Given the description of an element on the screen output the (x, y) to click on. 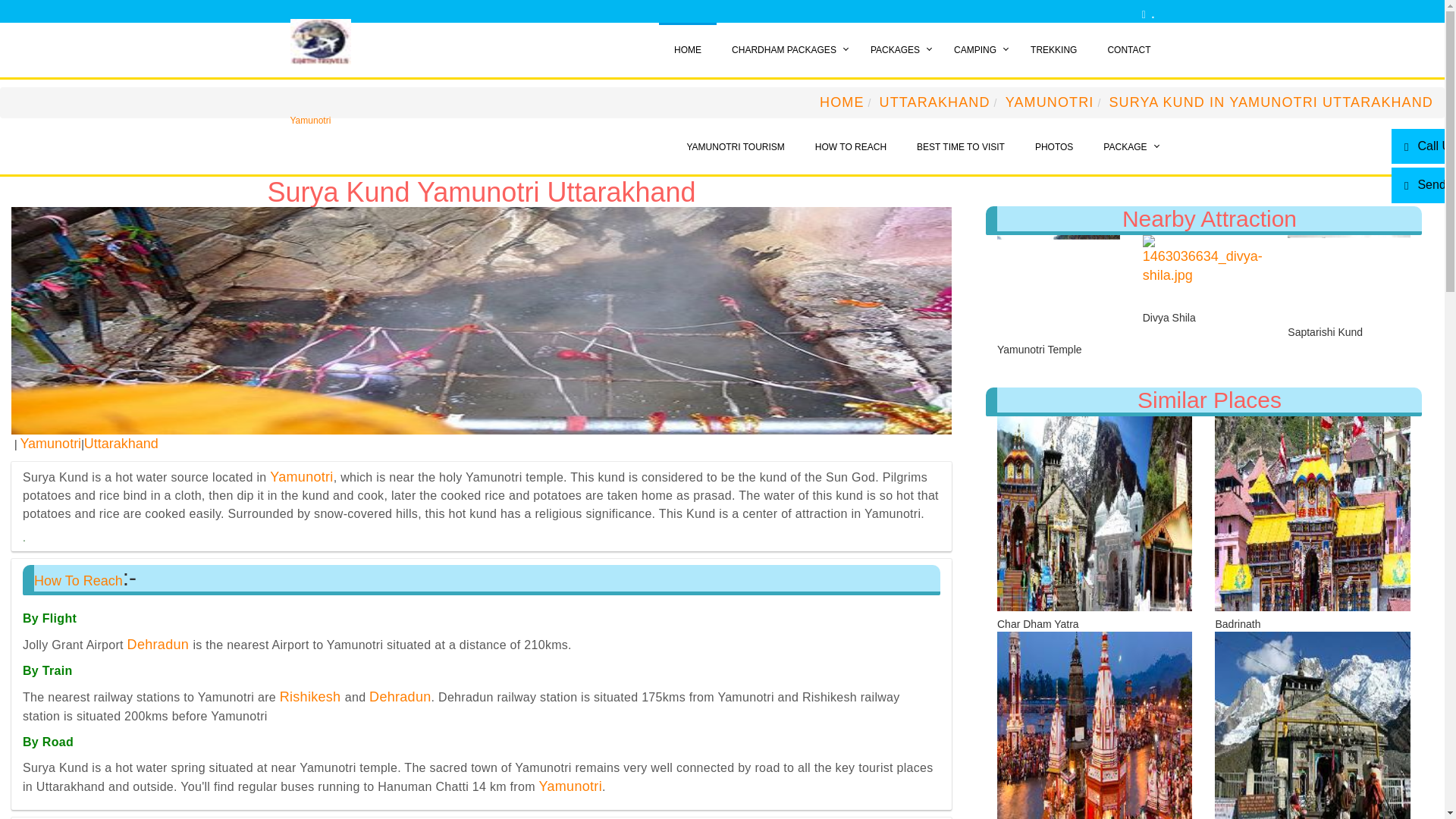
Yamunotri (50, 443)
Uttarakhand (121, 443)
Yamunotri (570, 785)
Home (976, 49)
HOW TO REACH (850, 146)
CHARDHAM PACKAGES (786, 49)
How To Reach (77, 580)
Dehradun (399, 696)
CAMPING (976, 49)
SURYA KUND IN YAMUNOTRI UTTARAKHAND (1270, 102)
CONTACT (1129, 49)
Home (1053, 49)
PACKAGE (1126, 146)
UTTARAKHAND (934, 102)
